Given the description of an element on the screen output the (x, y) to click on. 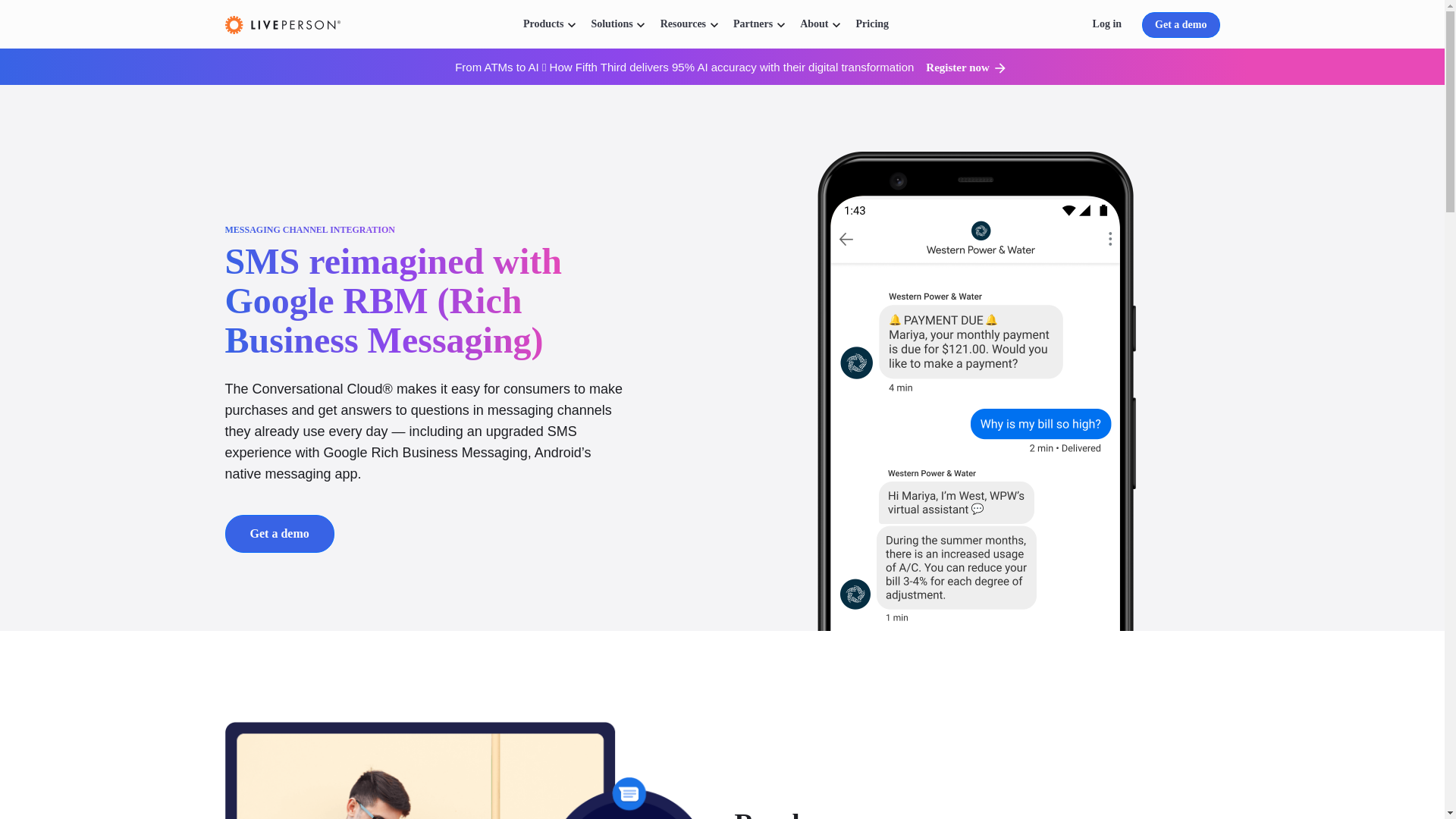
Resources (683, 23)
Products (543, 23)
Solutions (611, 23)
Partners (752, 23)
